Given the description of an element on the screen output the (x, y) to click on. 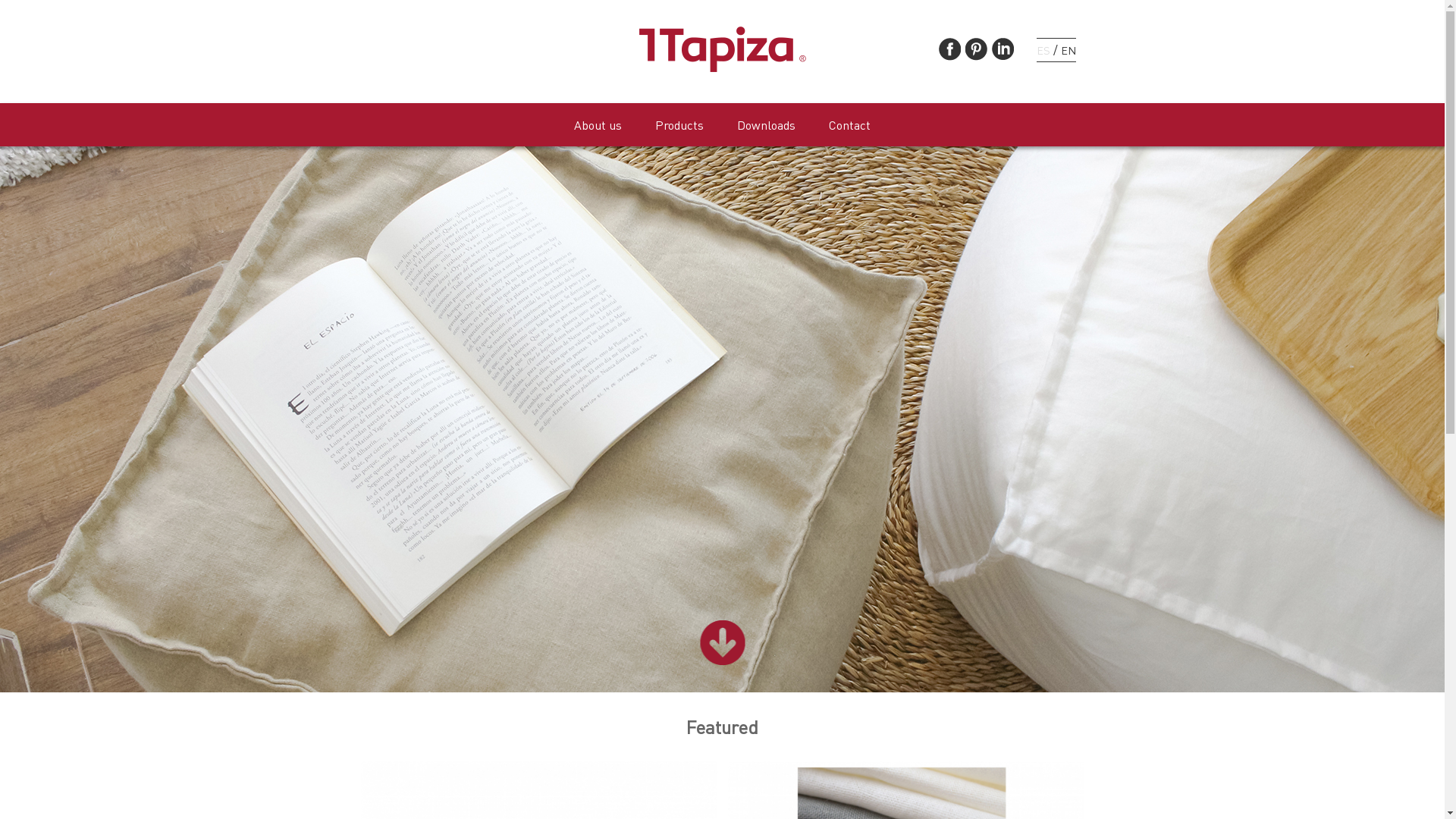
Facebook Element type: text (949, 48)
Pinterest Element type: text (976, 48)
ES Element type: text (1043, 49)
Contact Element type: text (849, 125)
EN Element type: text (1068, 49)
Downloads Element type: text (766, 125)
Instagram Element type: text (1002, 48)
Products Element type: text (679, 125)
About us Element type: text (597, 125)
